Given the description of an element on the screen output the (x, y) to click on. 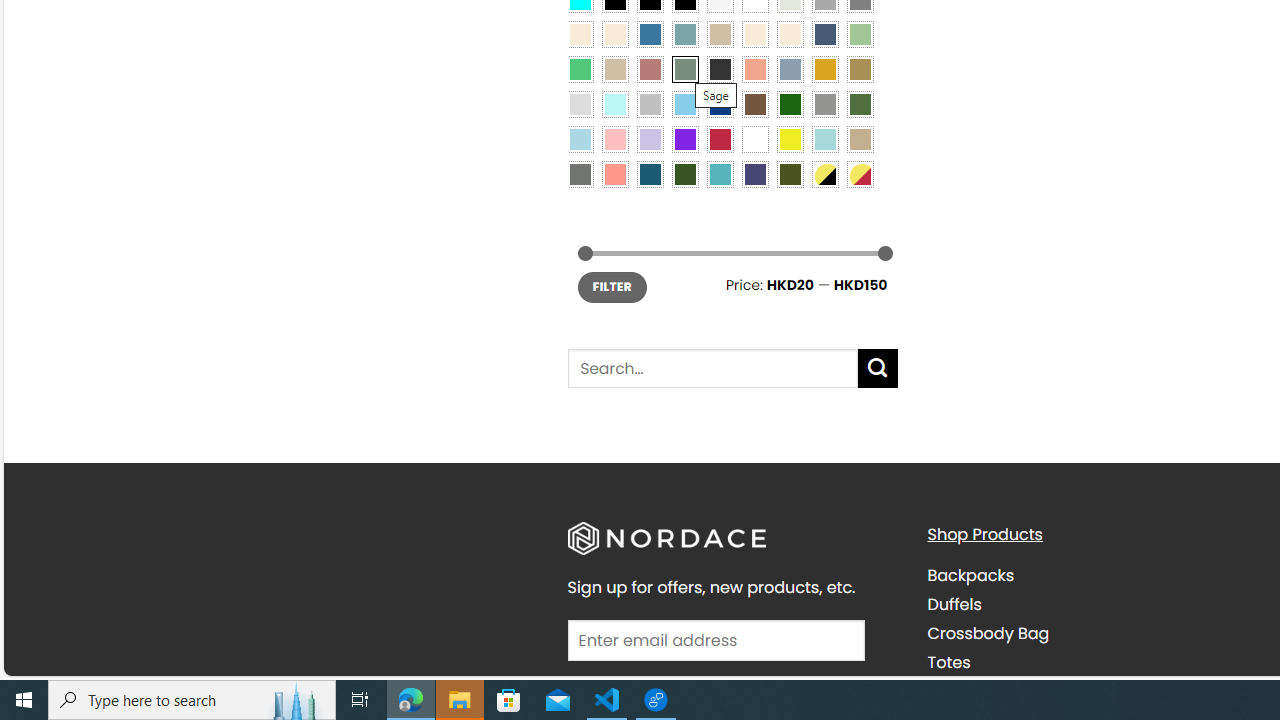
Dusty Blue (789, 69)
Sky Blue (684, 103)
Mint (614, 103)
Brownie (719, 33)
Light Taupe (614, 69)
Duffels (1092, 604)
Dull Nickle (579, 174)
FILTER (612, 287)
Backpacks (1092, 576)
Yellow-Red (859, 174)
Beige-Brown (614, 33)
Blue Sage (684, 33)
Hale Navy (824, 33)
Cream (789, 33)
Caramel (755, 33)
